Given the description of an element on the screen output the (x, y) to click on. 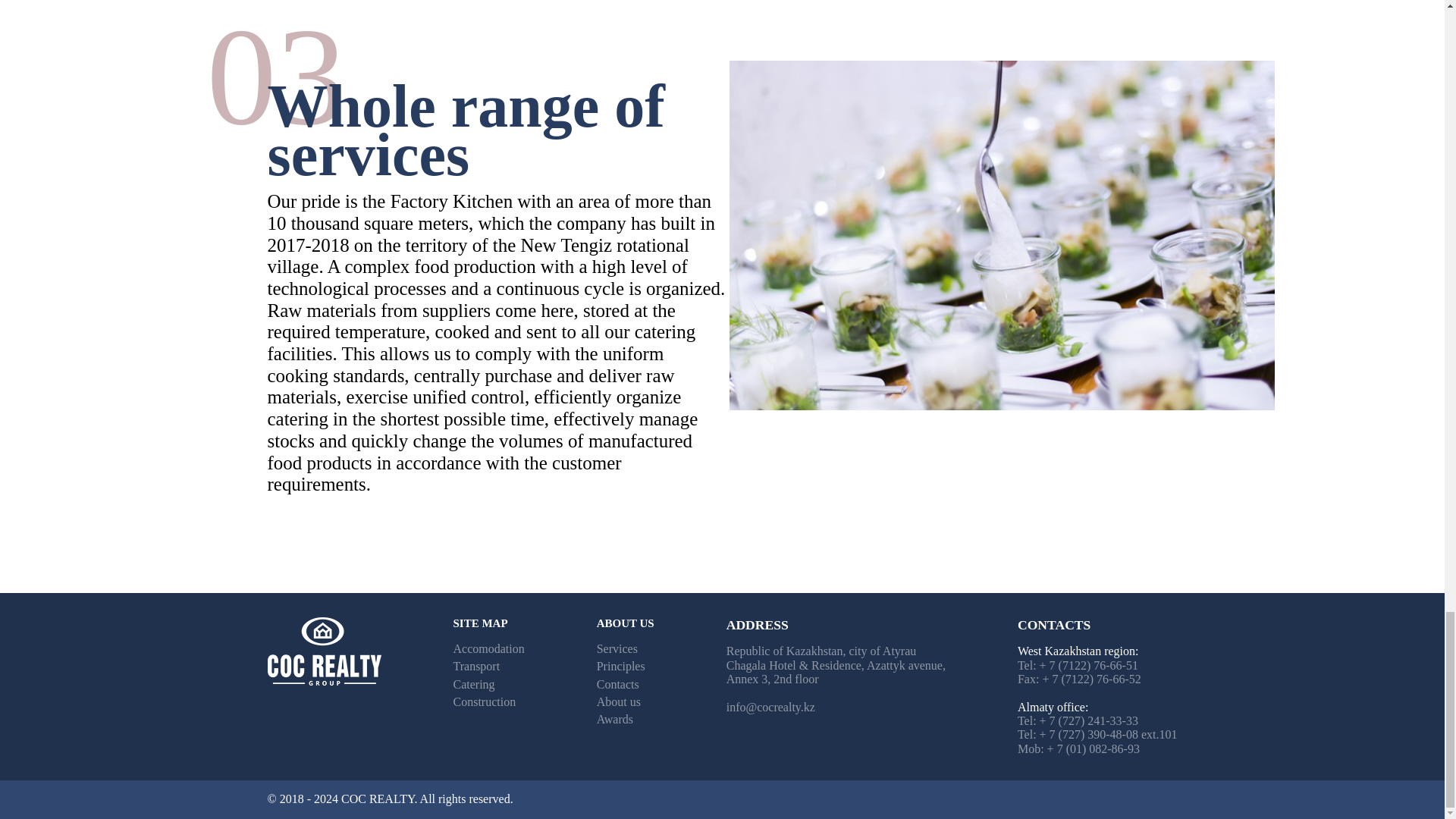
Contacts (617, 684)
Catering (473, 684)
Principles (620, 666)
Transport (476, 666)
Transport (476, 666)
Construction (484, 701)
Contacts (617, 684)
About us     (618, 701)
Catering (473, 684)
Awards (614, 718)
